Given the description of an element on the screen output the (x, y) to click on. 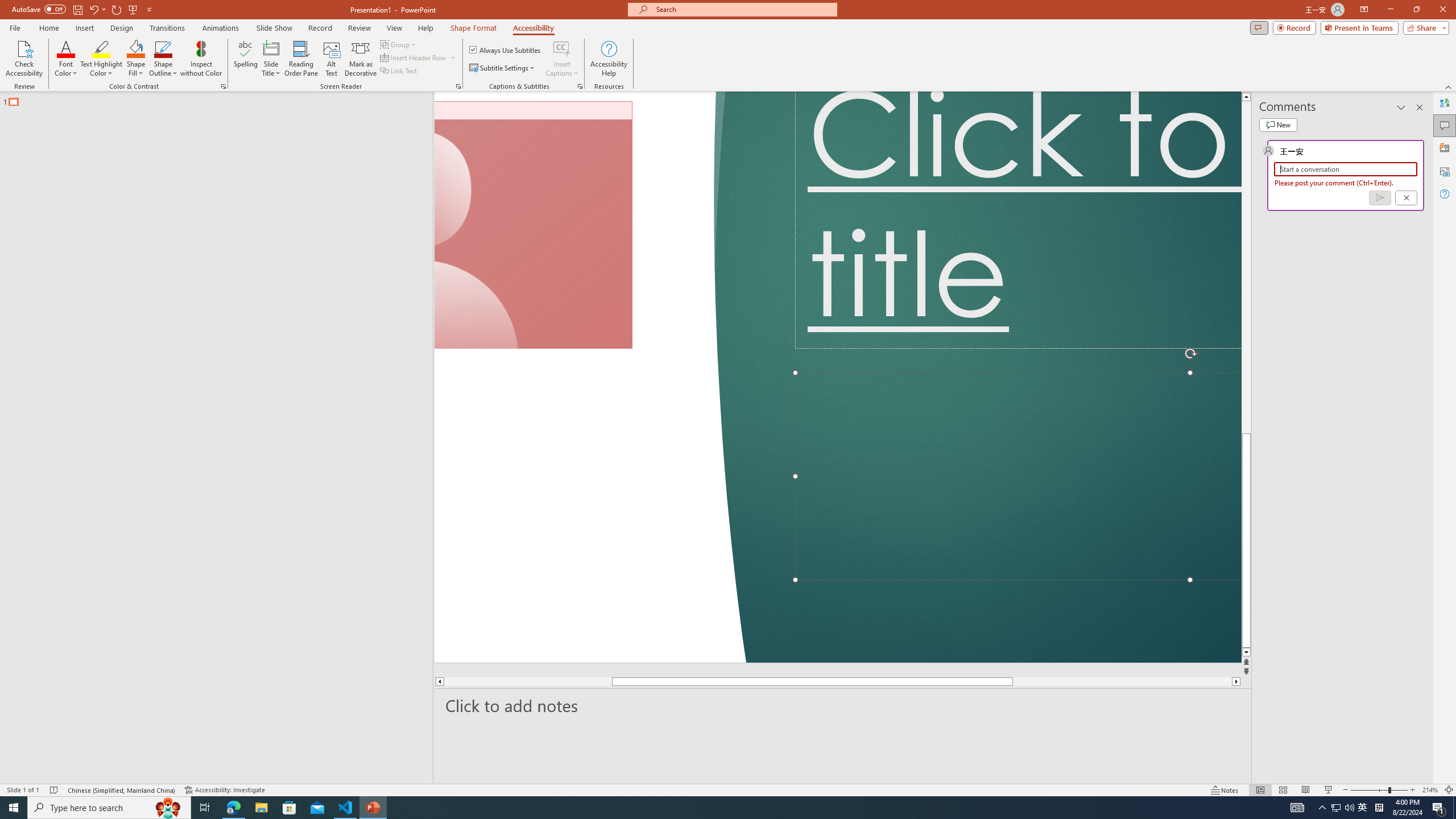
Slide Title (271, 48)
Inspect without Color (201, 58)
Always Use Subtitles (505, 49)
Alt Text (1444, 170)
Shape Fill Orange, Accent 2 (135, 48)
Zoom 214% (1430, 790)
